Given the description of an element on the screen output the (x, y) to click on. 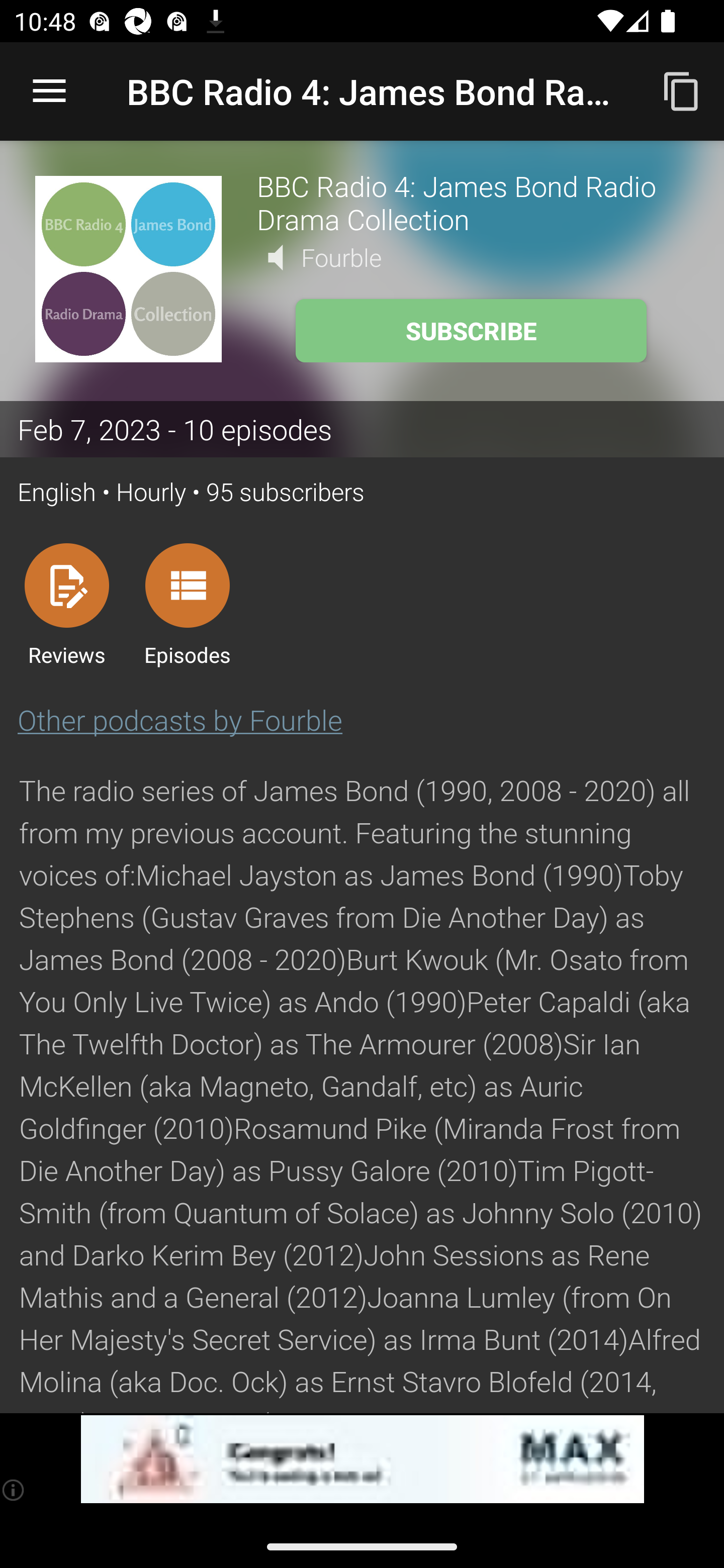
Open navigation sidebar (49, 91)
Copy feed url to clipboard (681, 90)
BBC Radio 4: James Bond Radio Drama Collection (472, 202)
SUBSCRIBE (470, 330)
Reviews (66, 604)
Episodes (187, 604)
Other podcasts by Fourble (180, 719)
app-monetization (362, 1459)
(i) (14, 1489)
